Given the description of an element on the screen output the (x, y) to click on. 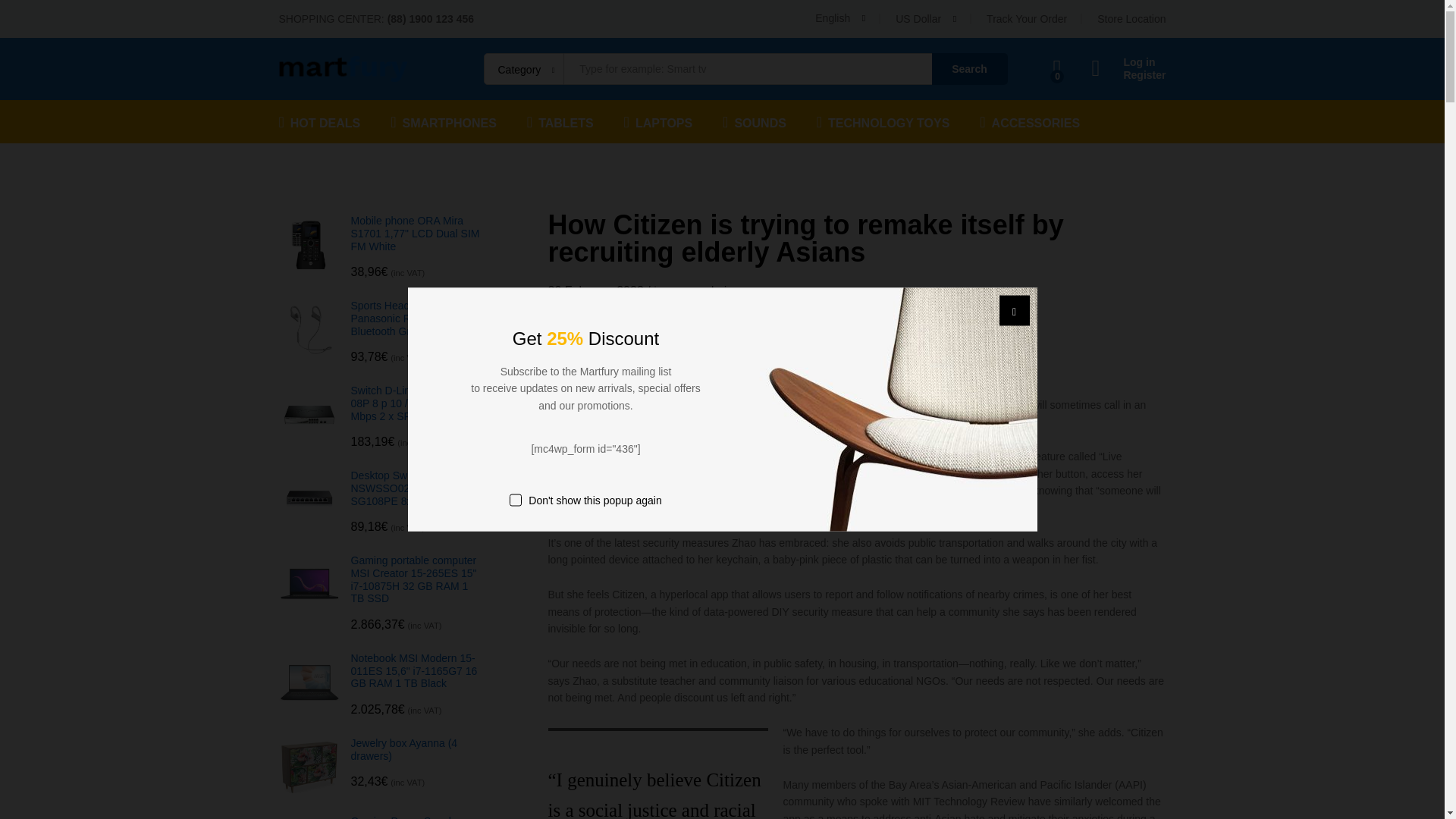
Search (969, 69)
Store Location (1131, 19)
Log in (1128, 62)
20 February 2023 (595, 290)
English (839, 18)
SMARTPHONES (443, 121)
ACCESSORIES (1029, 121)
SOUNDS (754, 121)
LAPTOPS (658, 121)
HOT DEALS (320, 121)
